Given the description of an element on the screen output the (x, y) to click on. 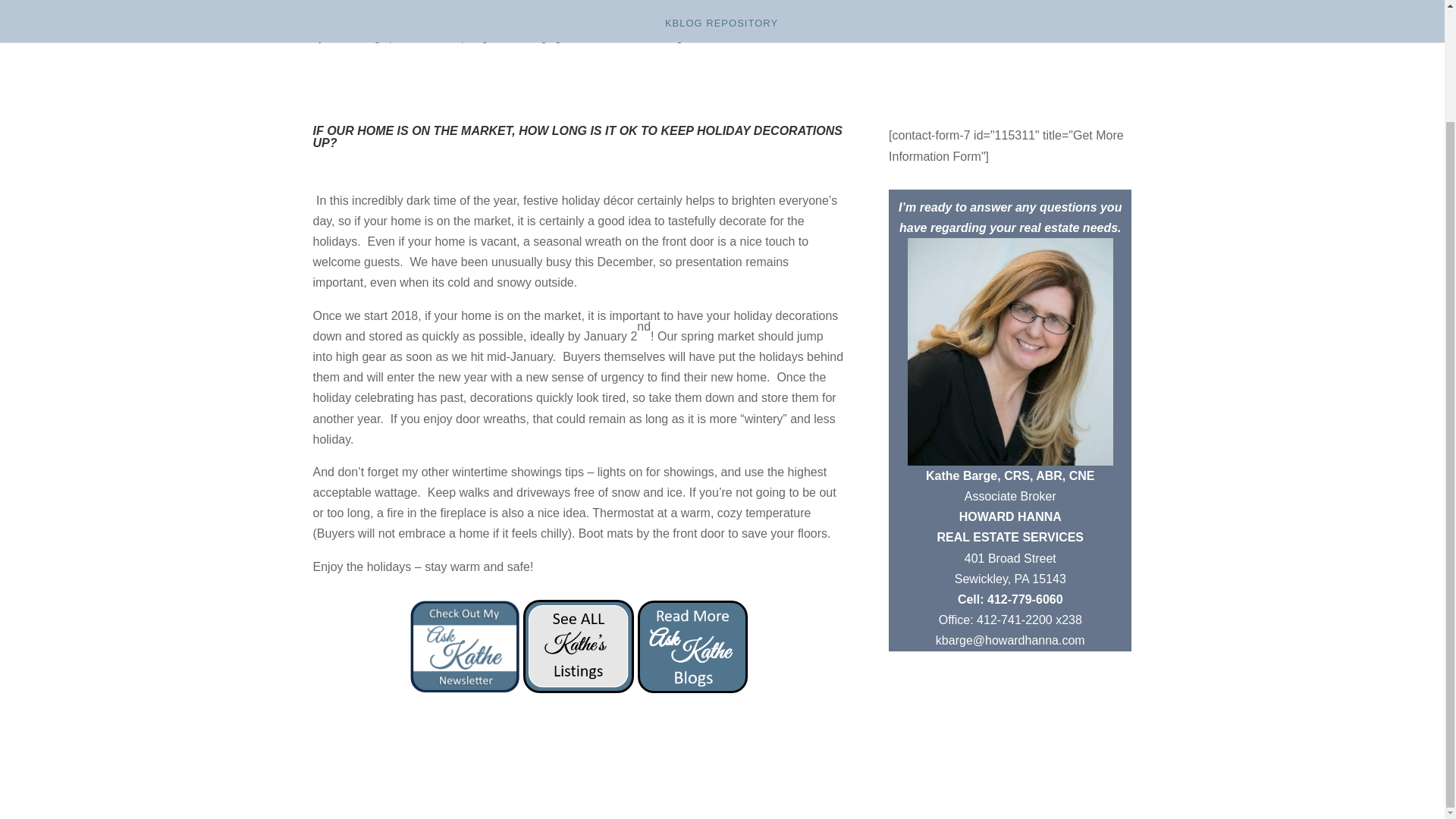
Posts by Kathe Barge (355, 37)
Real Estate (721, 37)
Pittsburgh (664, 37)
Blog (476, 37)
Home Staging (526, 37)
Kathe Barge (355, 37)
Market Trends (599, 37)
Sellers (771, 37)
